Given the description of an element on the screen output the (x, y) to click on. 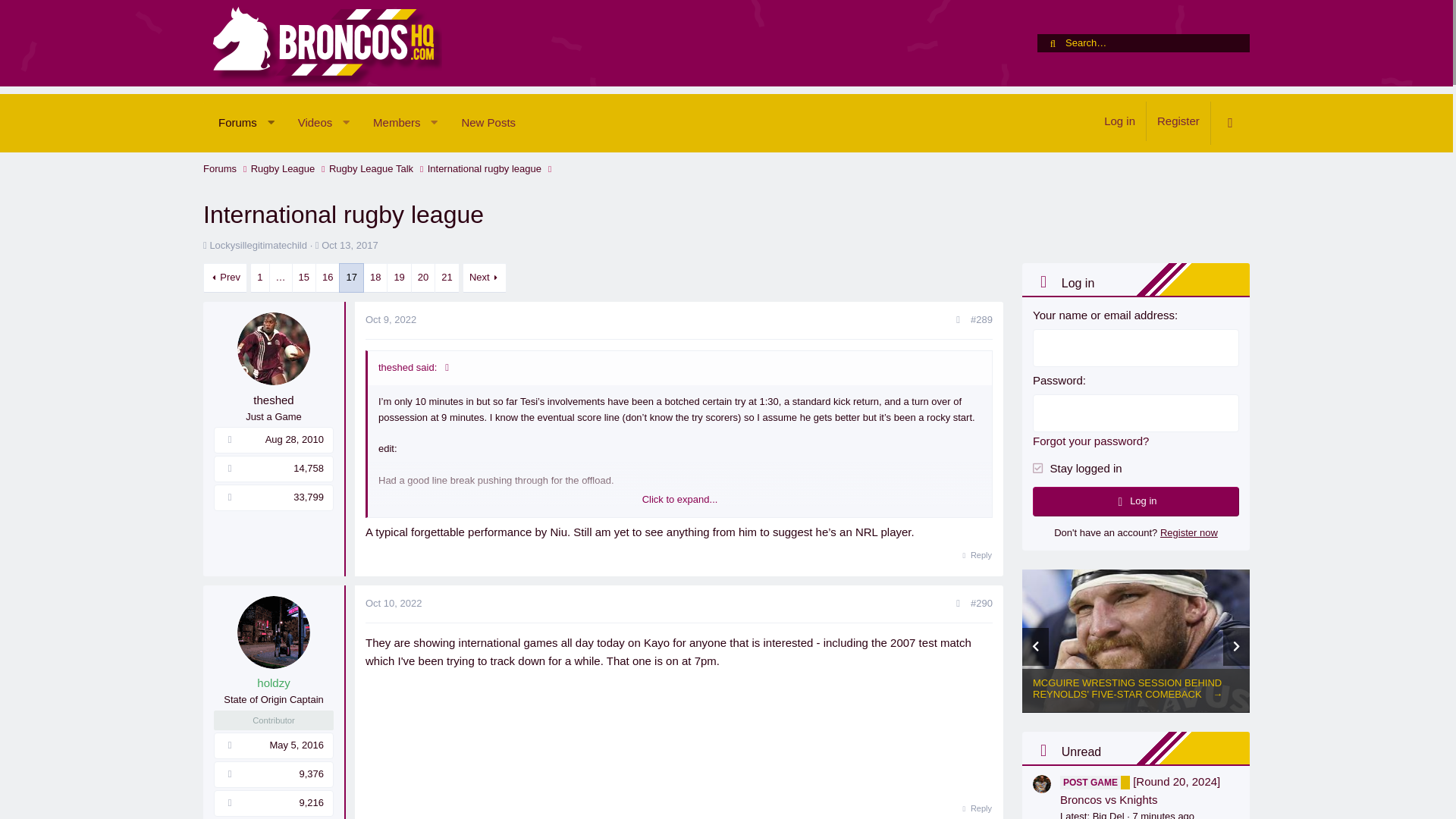
Go to page (280, 277)
Videos (308, 122)
Oct 13, 2017 at 8:32 PM (366, 139)
1 (349, 244)
Log in (1037, 463)
Start date (1119, 120)
Forums (371, 168)
New Posts (231, 122)
Joined (488, 122)
Forums (366, 122)
Thread starter (229, 439)
Rugby League (219, 168)
